Given the description of an element on the screen output the (x, y) to click on. 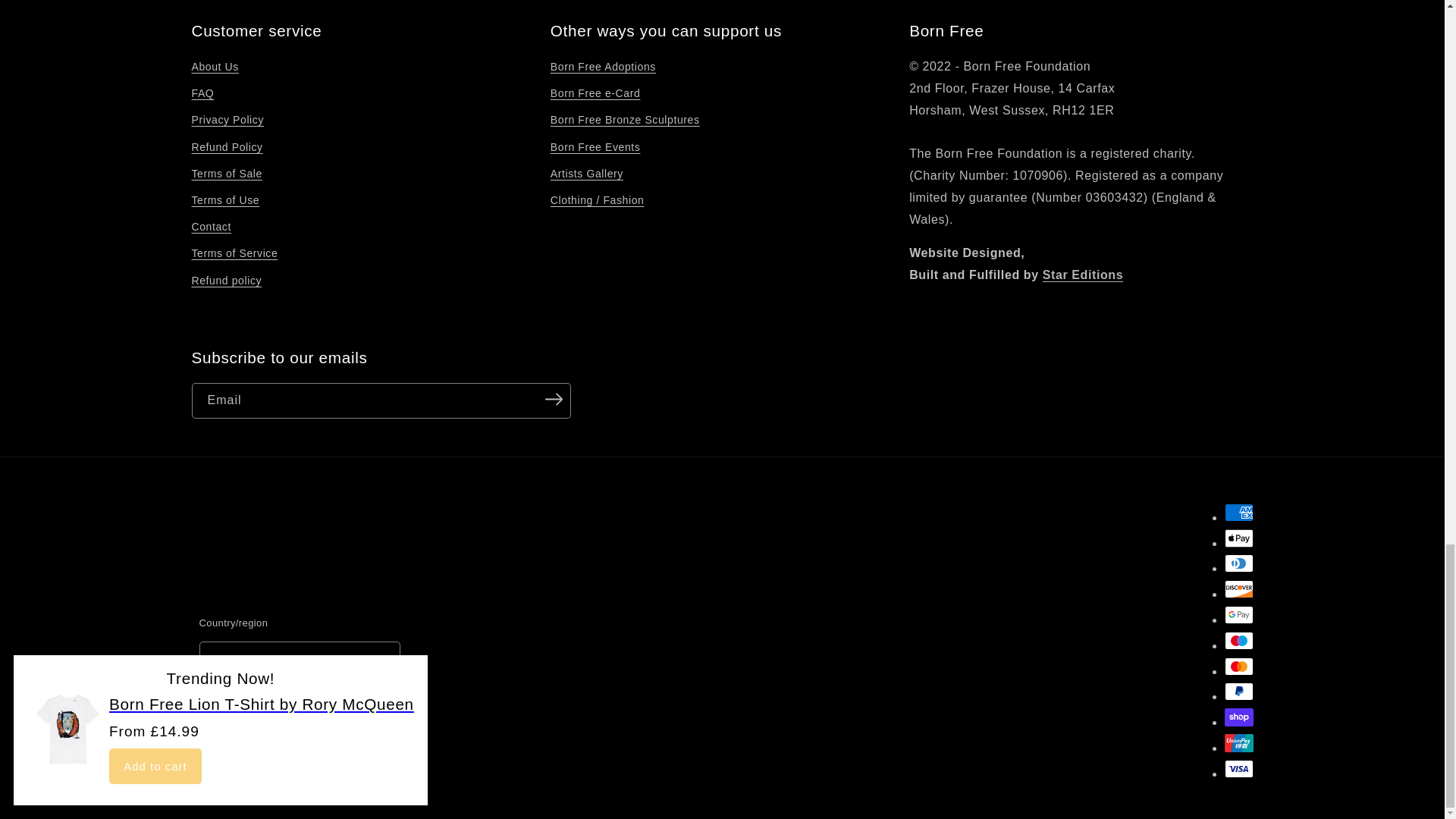
Apple Pay (1238, 538)
Diners Club (1238, 563)
American Express (1238, 512)
